Given the description of an element on the screen output the (x, y) to click on. 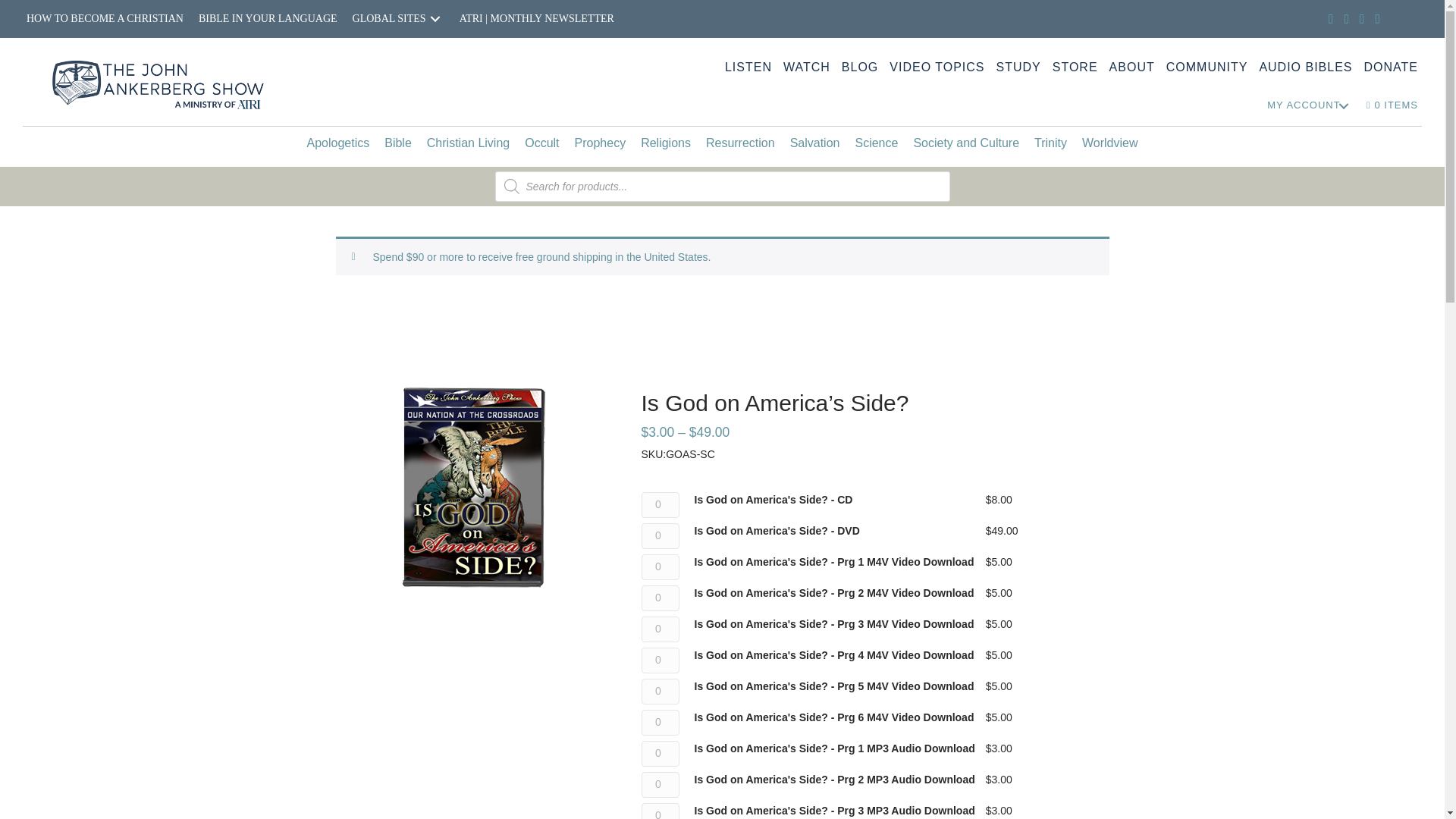
BIBLE IN YOUR LANGUAGE (267, 19)
LISTEN (748, 66)
Is God on America's Side?-0 (472, 487)
Start shopping (1392, 105)
VIDEO TOPICS (936, 66)
HOW TO BECOME A CHRISTIAN (104, 19)
GLOBAL SITES (398, 19)
BLOG (860, 66)
WATCH (806, 66)
